Given the description of an element on the screen output the (x, y) to click on. 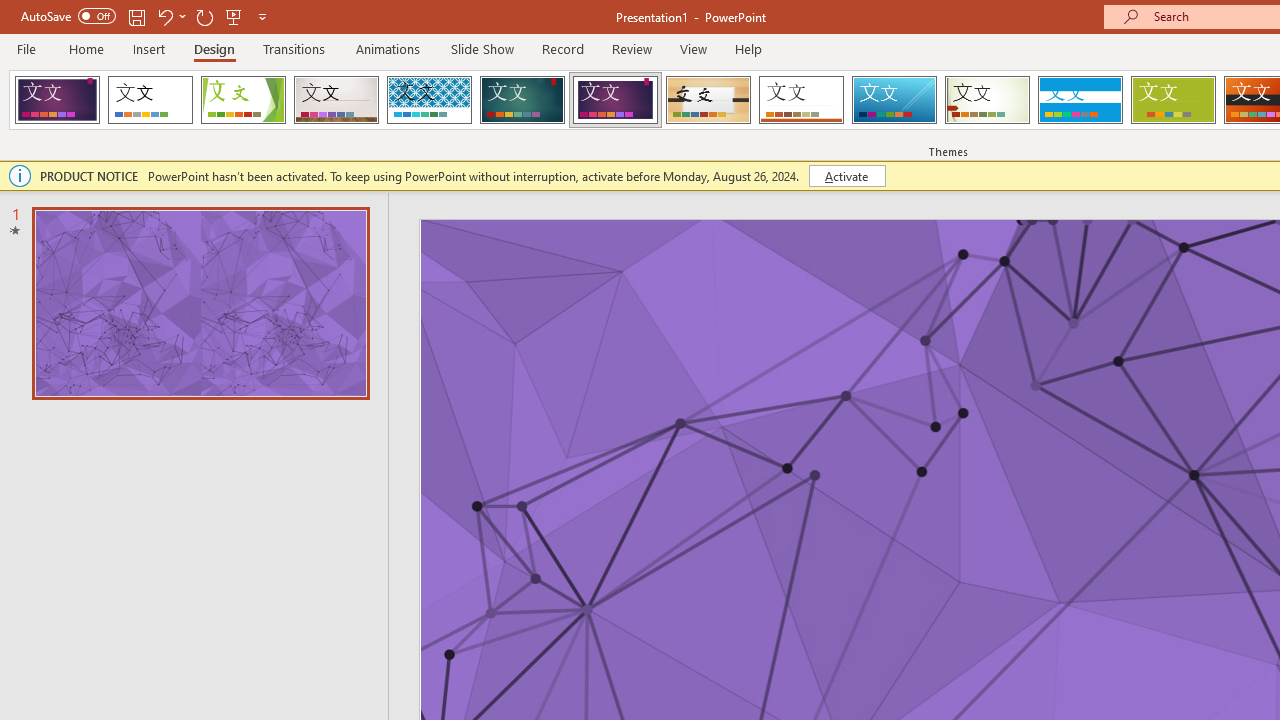
Activate (846, 175)
Organic (708, 100)
Office Theme (150, 100)
